Given the description of an element on the screen output the (x, y) to click on. 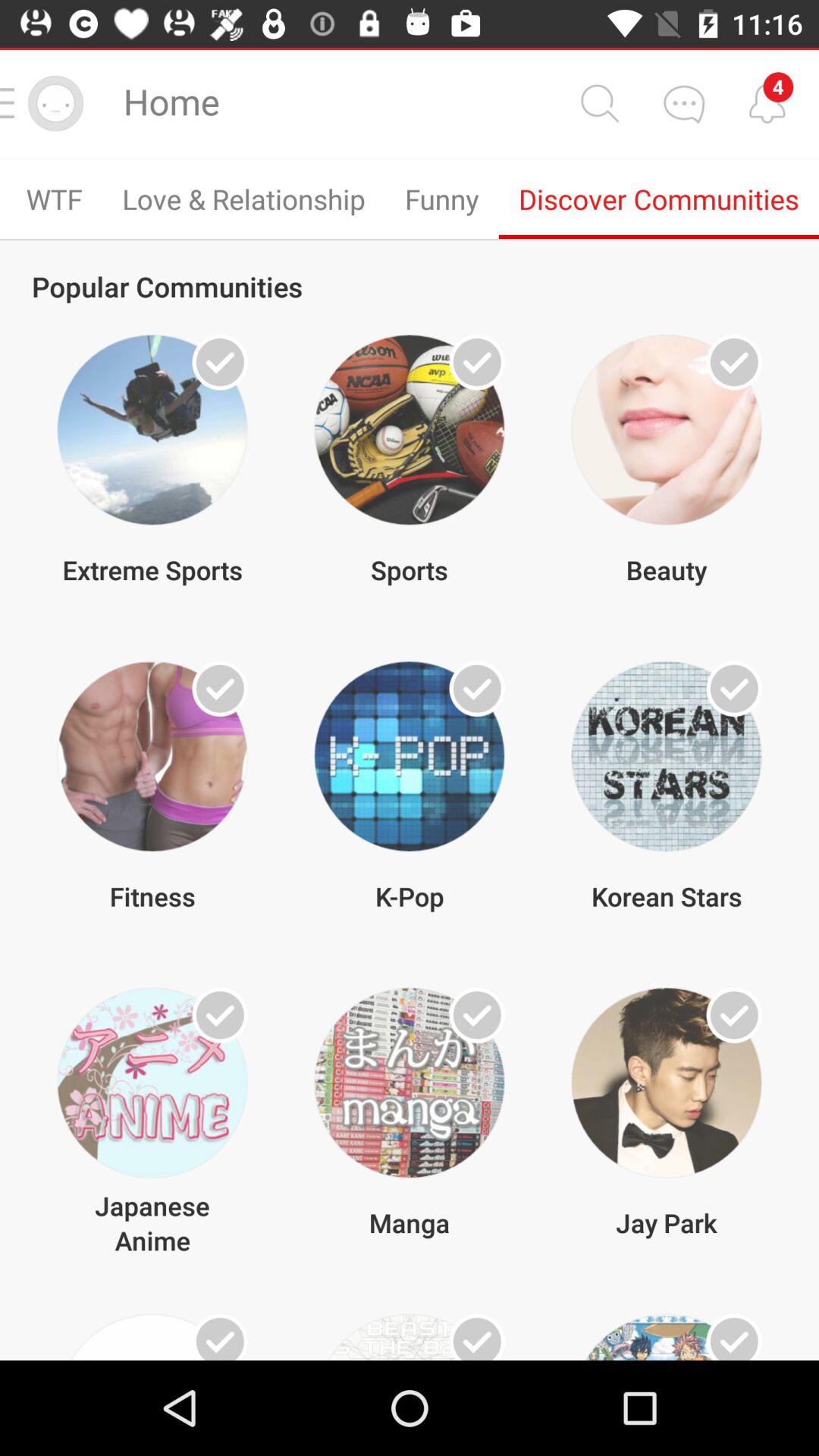
check interest box (477, 362)
